Given the description of an element on the screen output the (x, y) to click on. 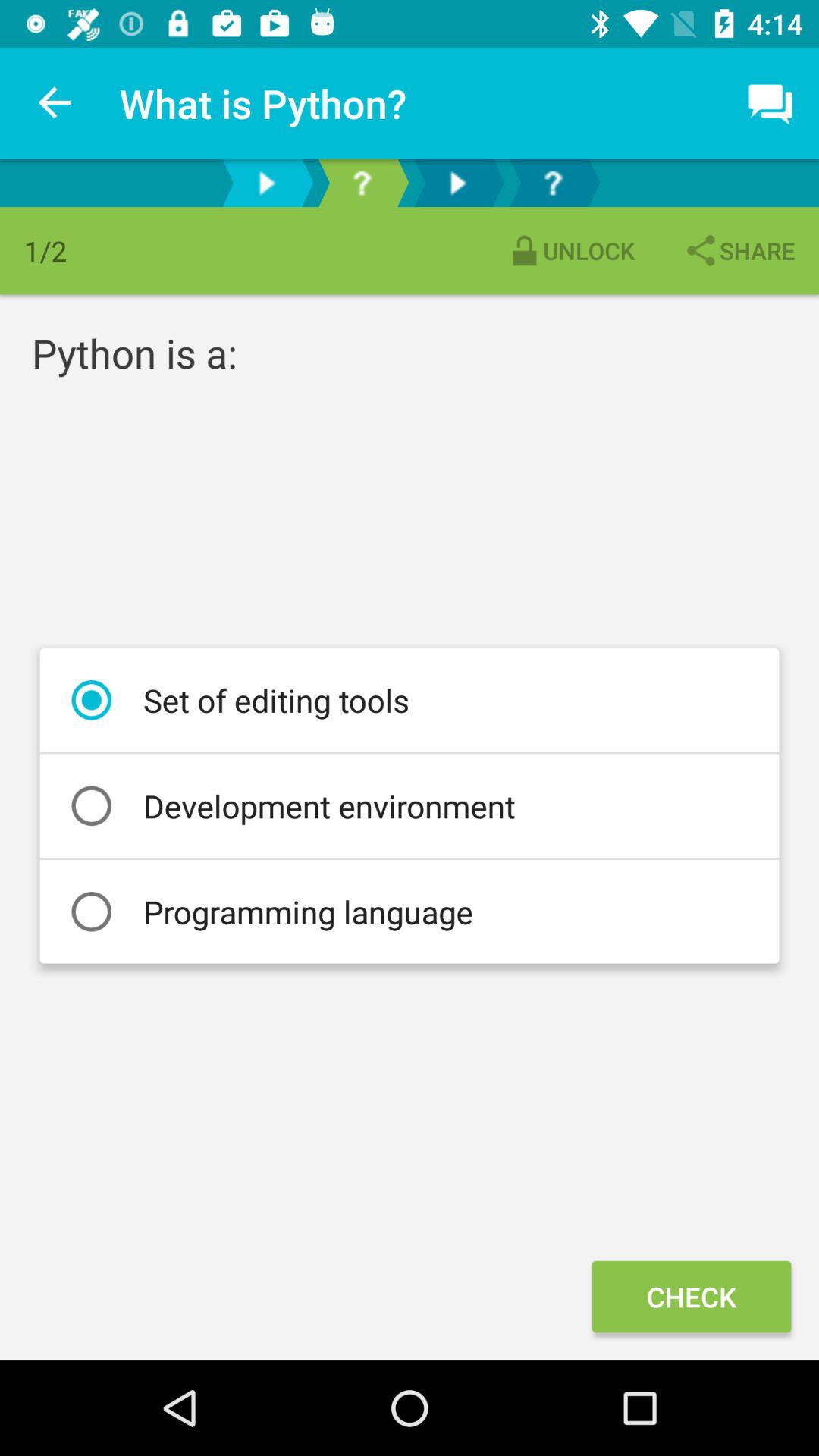
click help button (361, 183)
